Given the description of an element on the screen output the (x, y) to click on. 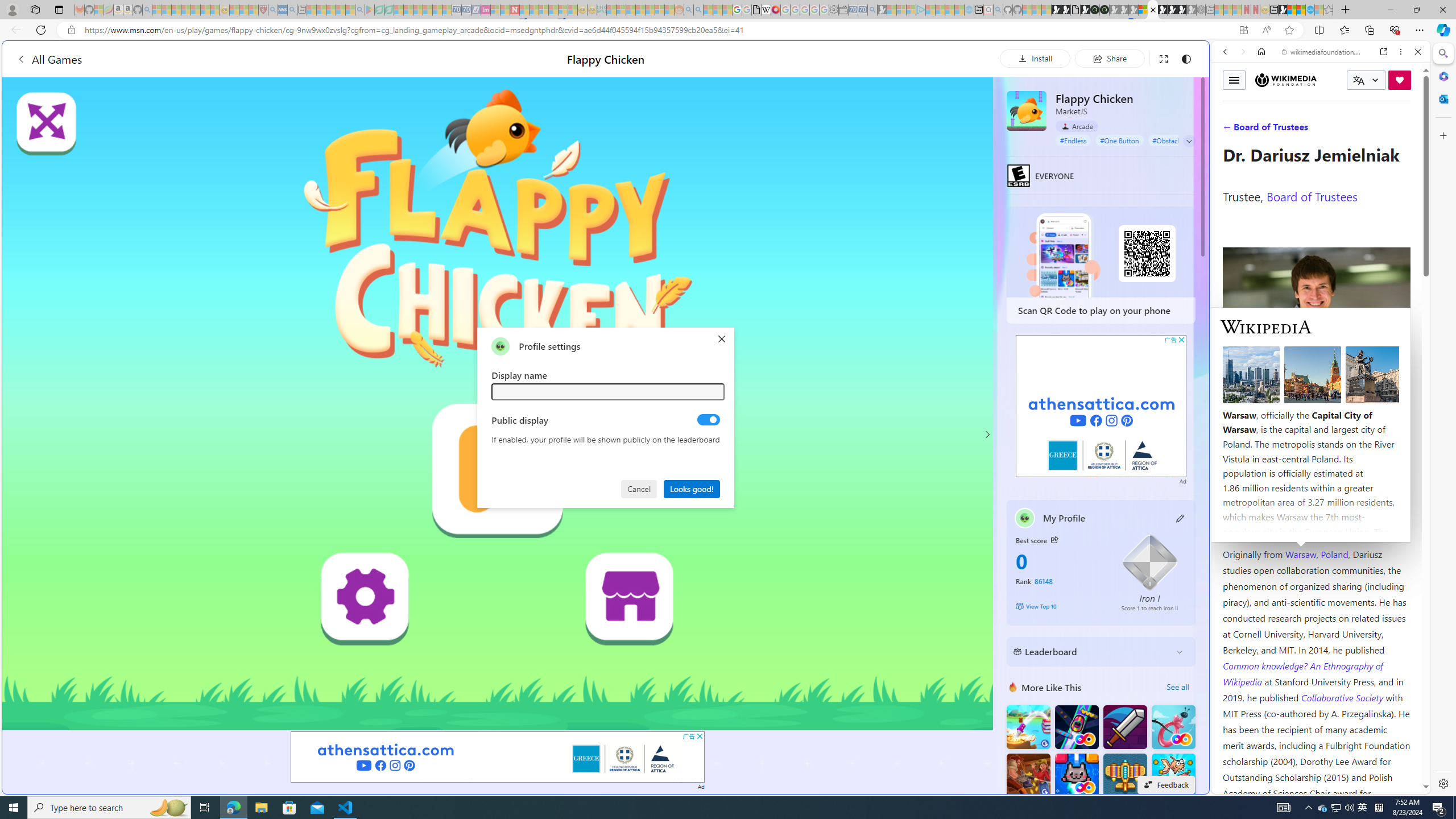
utah sues federal government - Search - Sleeping (291, 9)
Settings - Sleeping (833, 9)
Pets - MSN - Sleeping (340, 9)
SEARCH TOOLS (1350, 130)
Change to dark mode (1185, 58)
#One Button (1119, 140)
Class: control (1188, 140)
Frequently visited (965, 151)
